Given the description of an element on the screen output the (x, y) to click on. 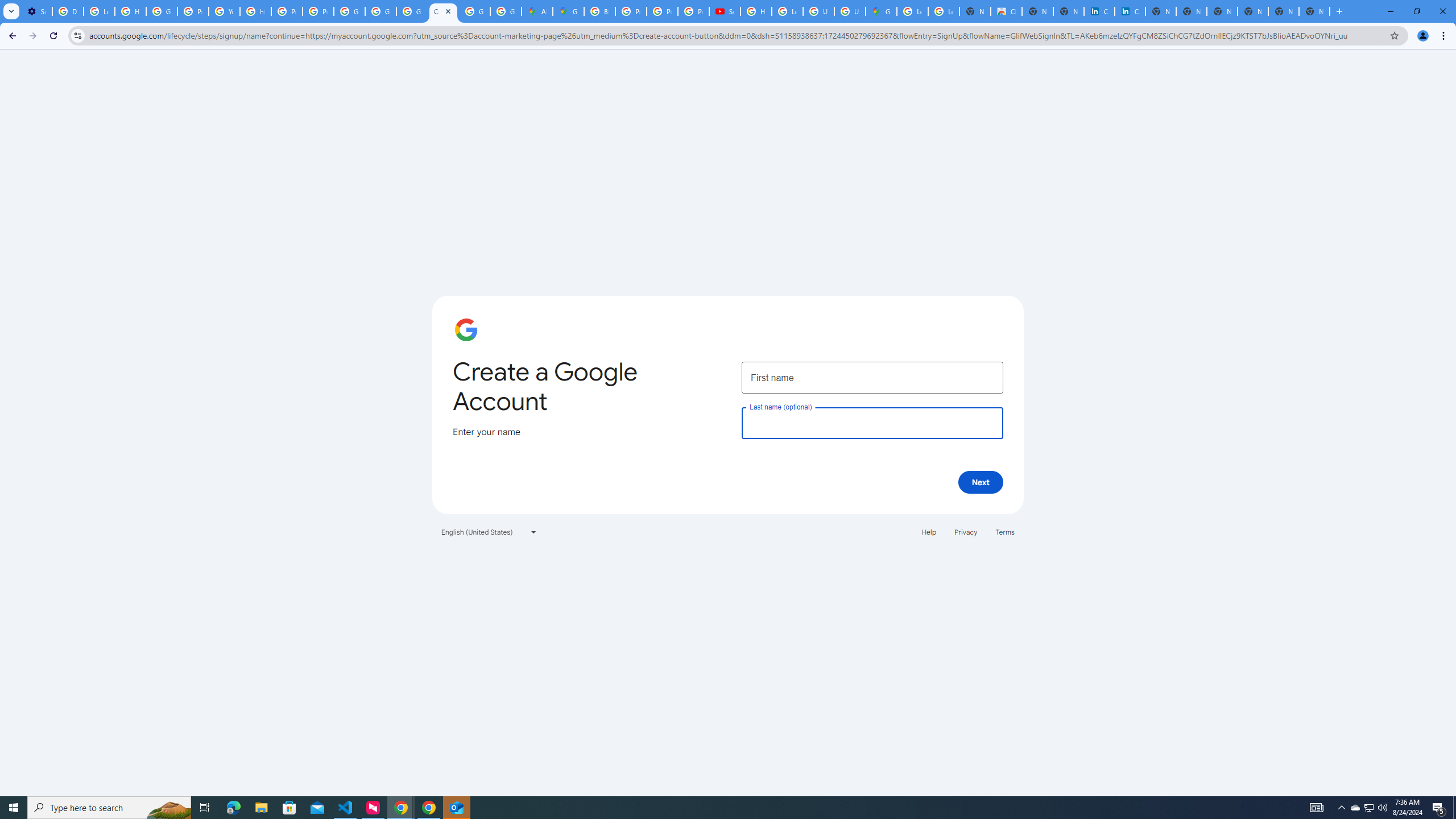
Create your Google Account (443, 11)
YouTube (223, 11)
Privacy Help Center - Policies Help (192, 11)
Delete photos & videos - Computer - Google Photos Help (67, 11)
